Given the description of an element on the screen output the (x, y) to click on. 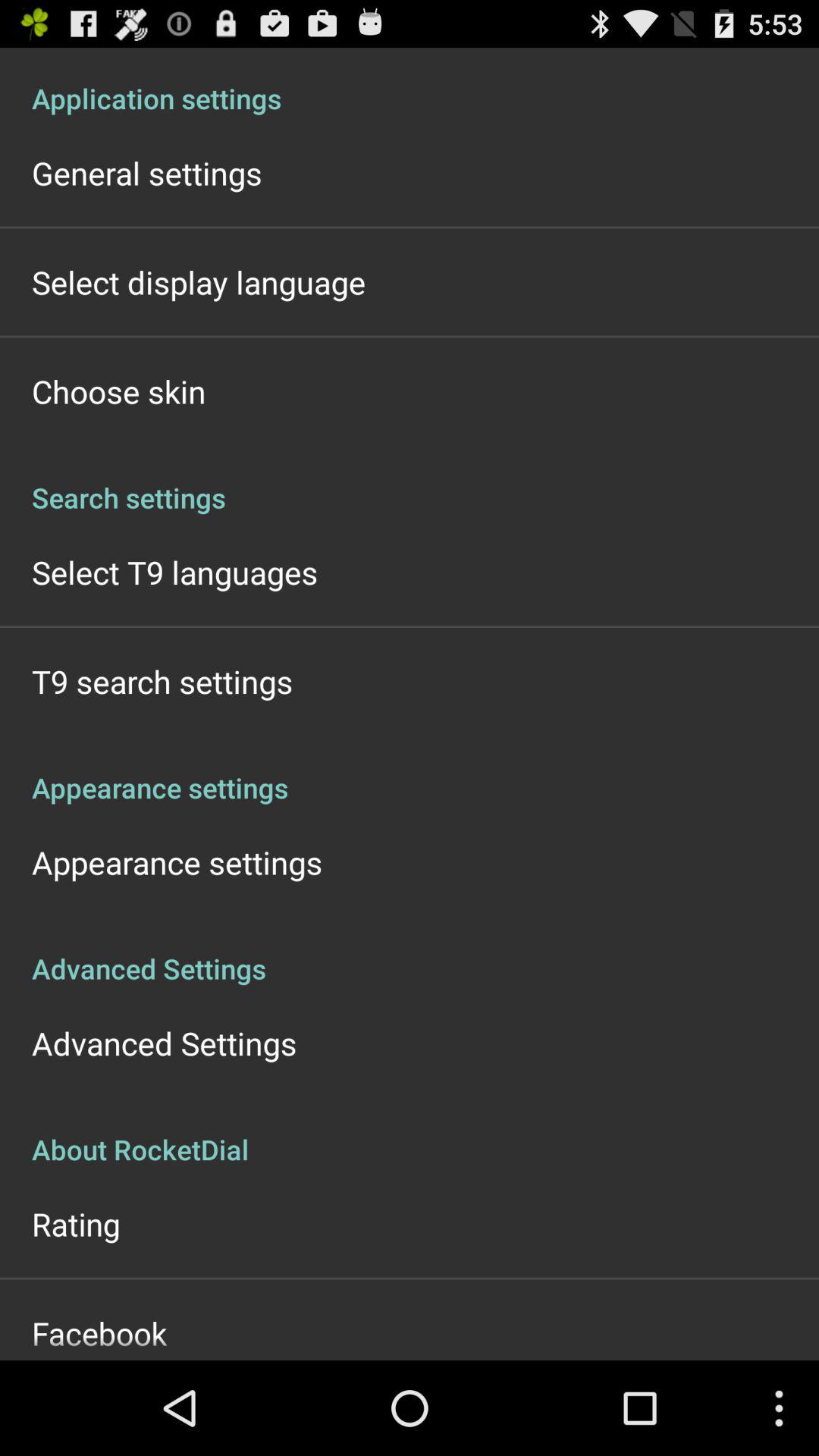
turn on the item above the select display language icon (146, 172)
